Given the description of an element on the screen output the (x, y) to click on. 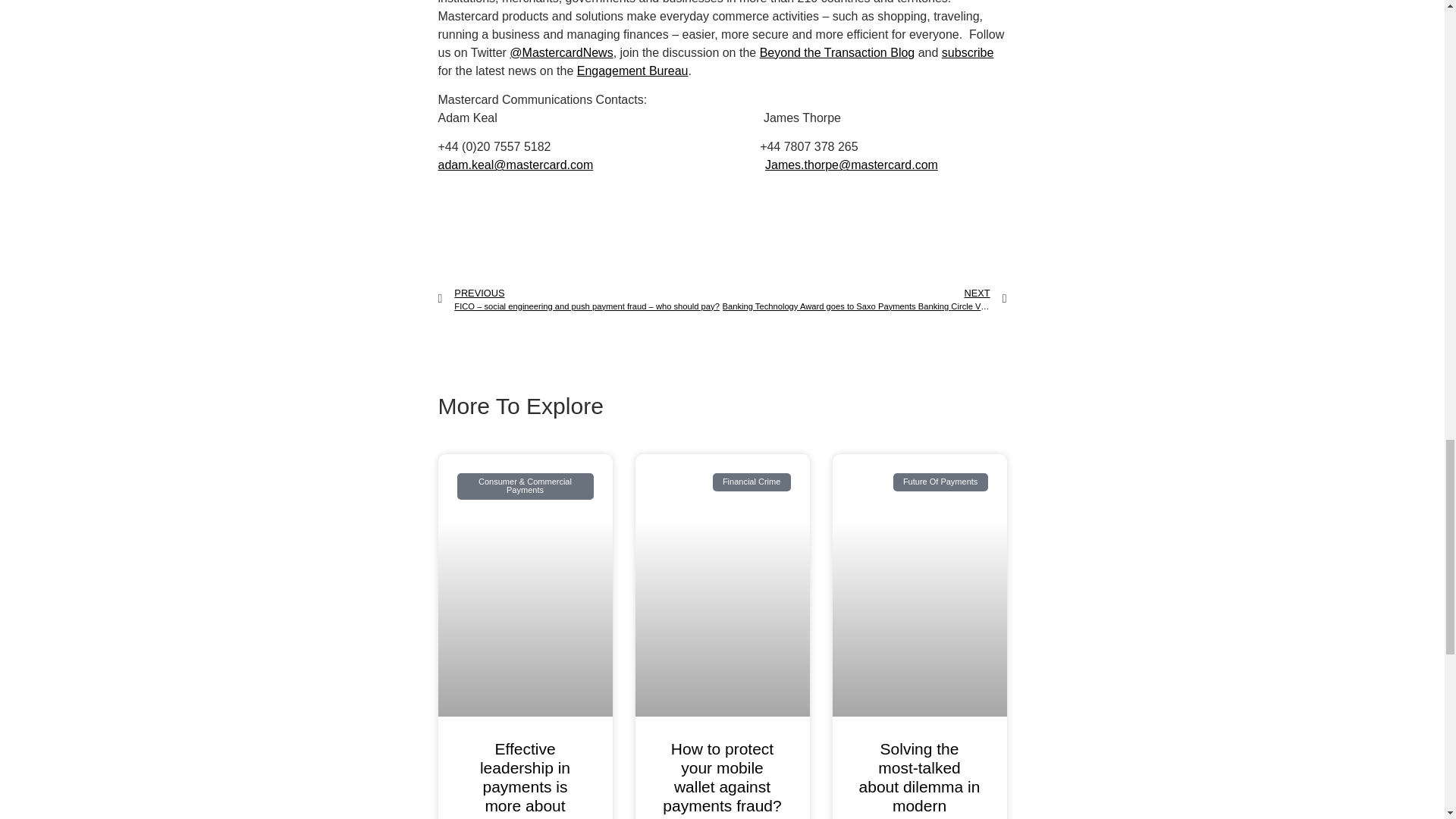
subscribe (967, 51)
Beyond the Transaction Blog (837, 51)
Engagement Bureau (632, 70)
How to protect your mobile wallet against payments fraud? (721, 777)
